Given the description of an element on the screen output the (x, y) to click on. 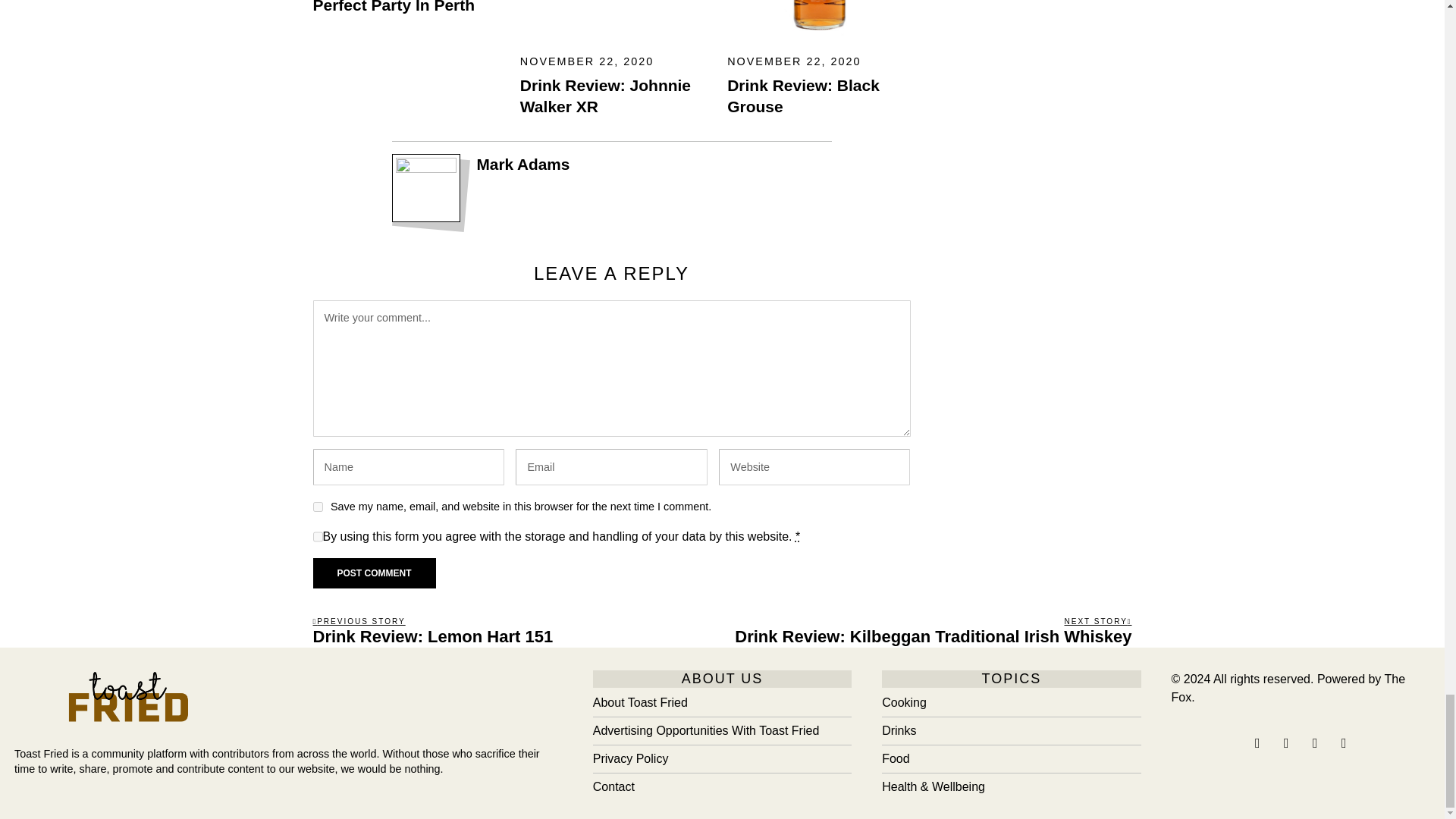
22 Nov, 2020 06:50:52 (586, 61)
22 Nov, 2020 06:31:37 (793, 61)
yes (317, 506)
Post Comment (374, 572)
